Given the description of an element on the screen output the (x, y) to click on. 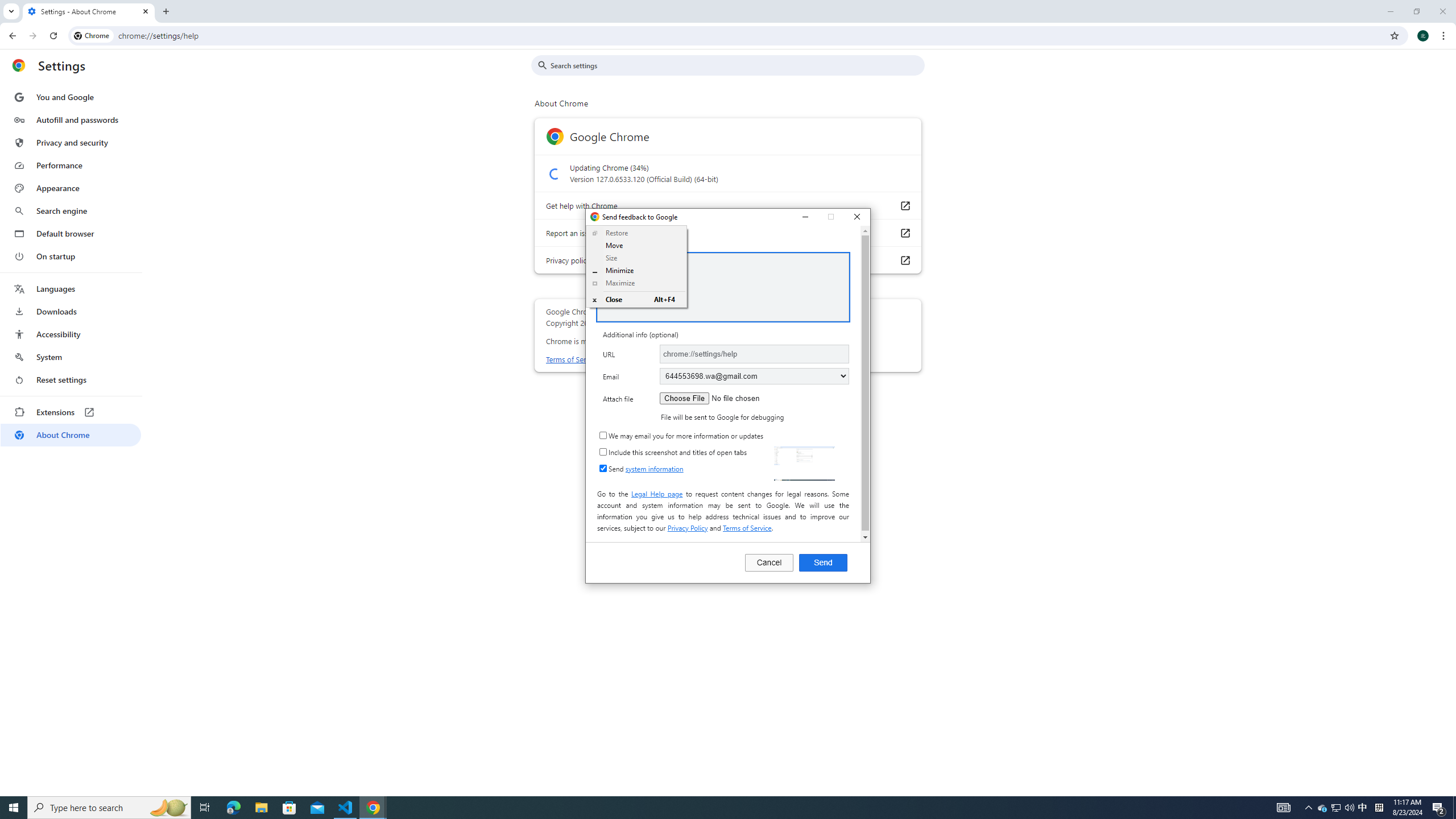
Task View (204, 807)
Visual Studio Code - 1 running window (345, 807)
User Promoted Notification Area (1336, 807)
Legal Help page (656, 492)
Send system information (603, 467)
Cancel (769, 562)
Search highlights icon opens search home window (167, 807)
Tray Input Indicator - Chinese (Simplified, China) (1378, 807)
Show desktop (1454, 807)
Privacy and security (70, 142)
Privacy policy (904, 259)
Size (636, 258)
